Given the description of an element on the screen output the (x, y) to click on. 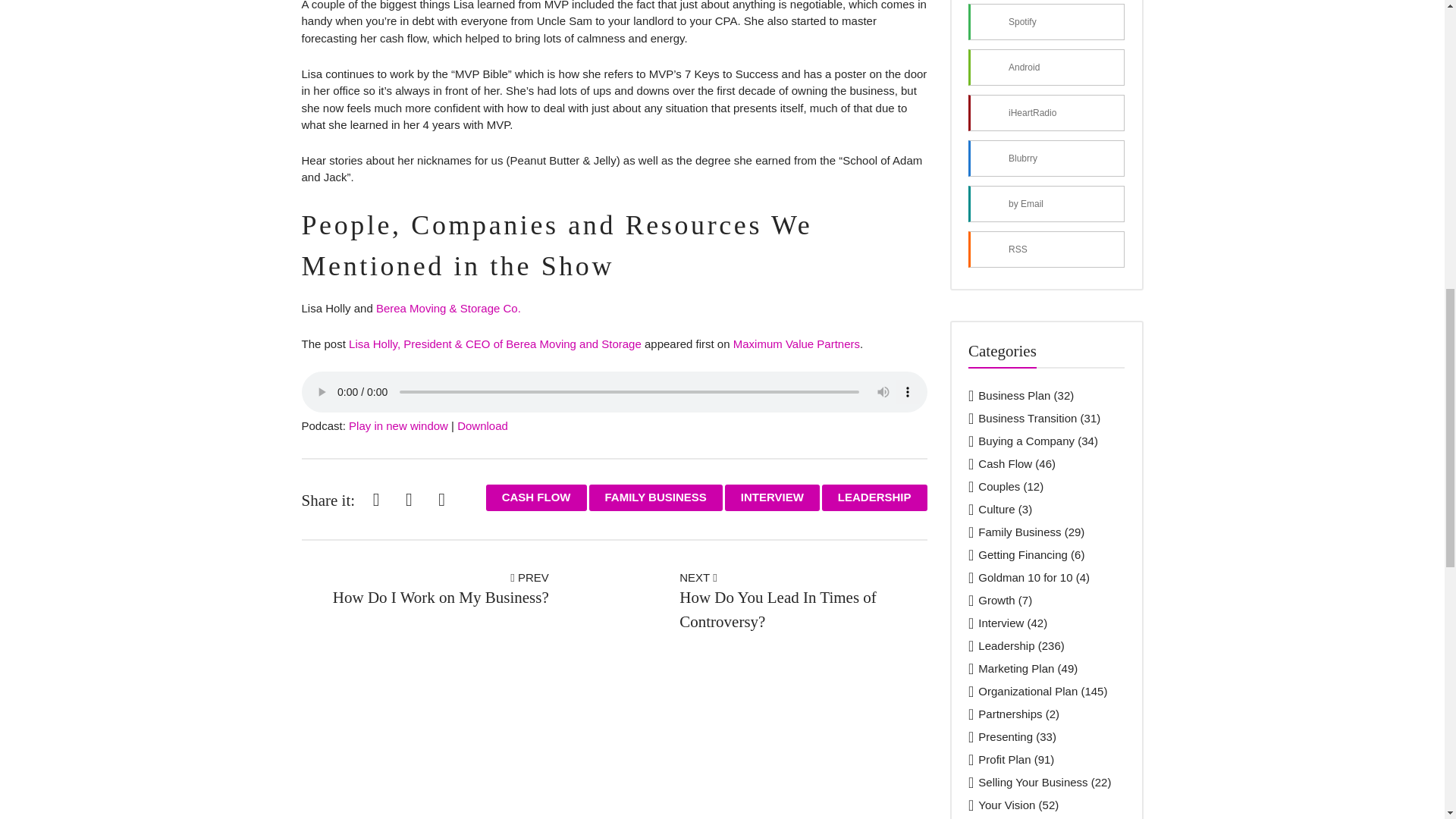
Maximum Value Partners (796, 343)
Subscribe by Email (1046, 203)
Download (482, 424)
Download (482, 424)
Play in new window (398, 424)
Subscribe on Spotify (1046, 22)
Subscribe on Android (1046, 67)
Subscribe on Blubrry (1046, 158)
Subscribe on iHeartRadio (1046, 113)
Subscribe via RSS (1046, 248)
Play in new window (398, 424)
